Given the description of an element on the screen output the (x, y) to click on. 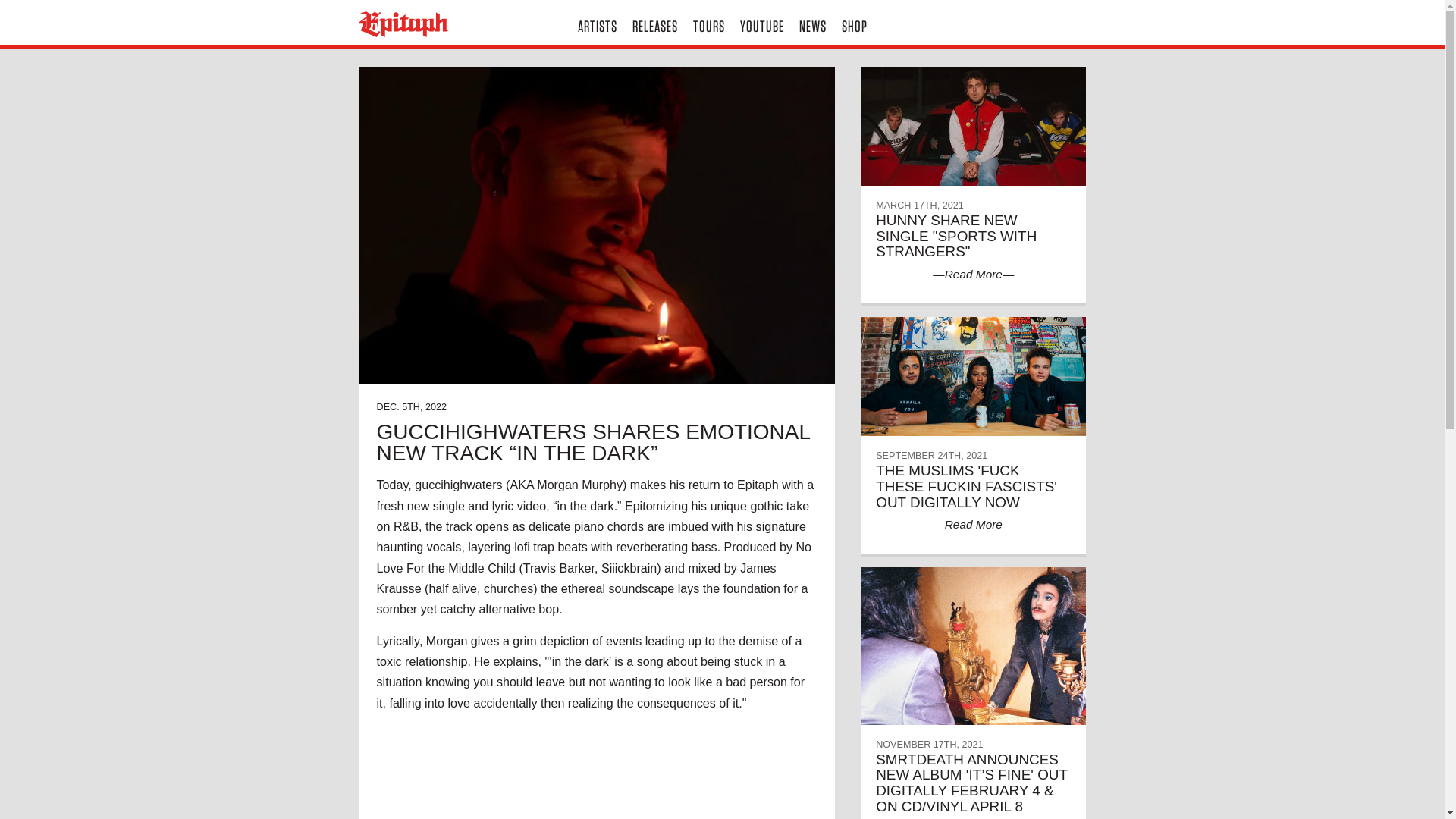
  YOUTUBE   (761, 22)
  ARTISTS   (597, 22)
  TOURS   (708, 22)
  RELEASES   (655, 22)
Epitaph (440, 24)
